Given the description of an element on the screen output the (x, y) to click on. 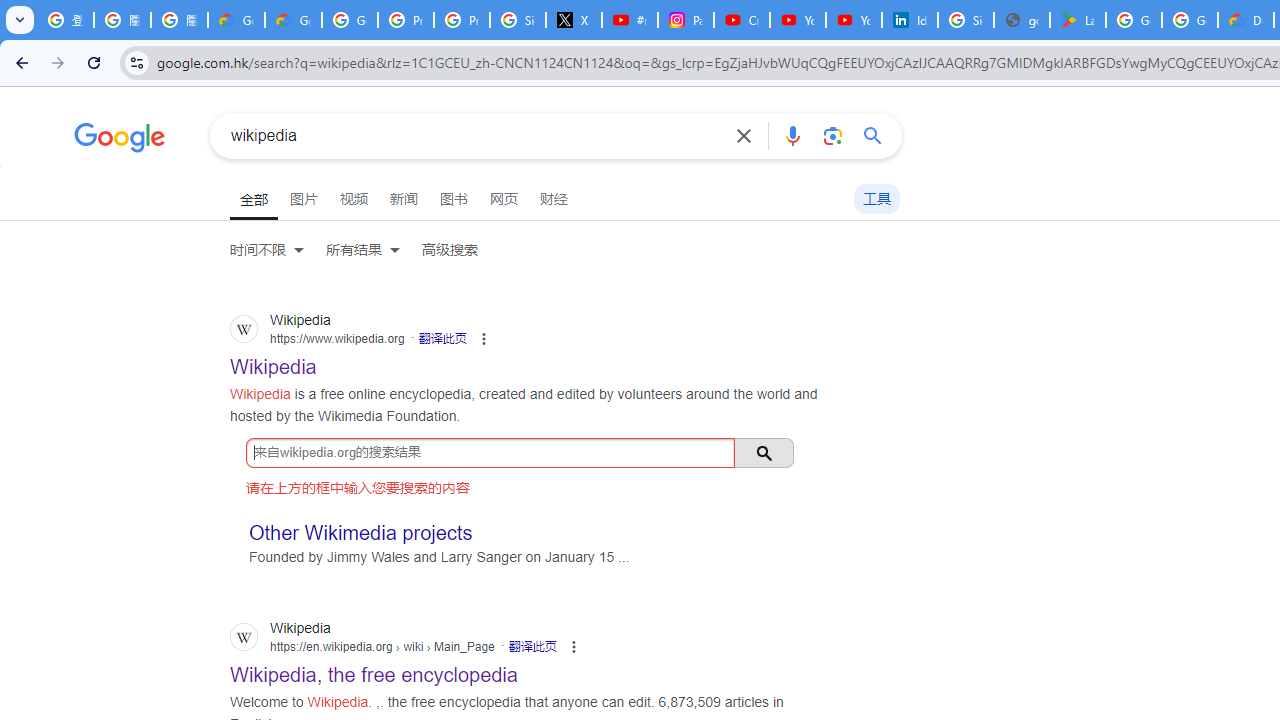
Sign in - Google Accounts (966, 20)
YouTube Culture & Trends - YouTube Top 10, 2021 (853, 20)
google_privacy_policy_en.pdf (1021, 20)
